Given the description of an element on the screen output the (x, y) to click on. 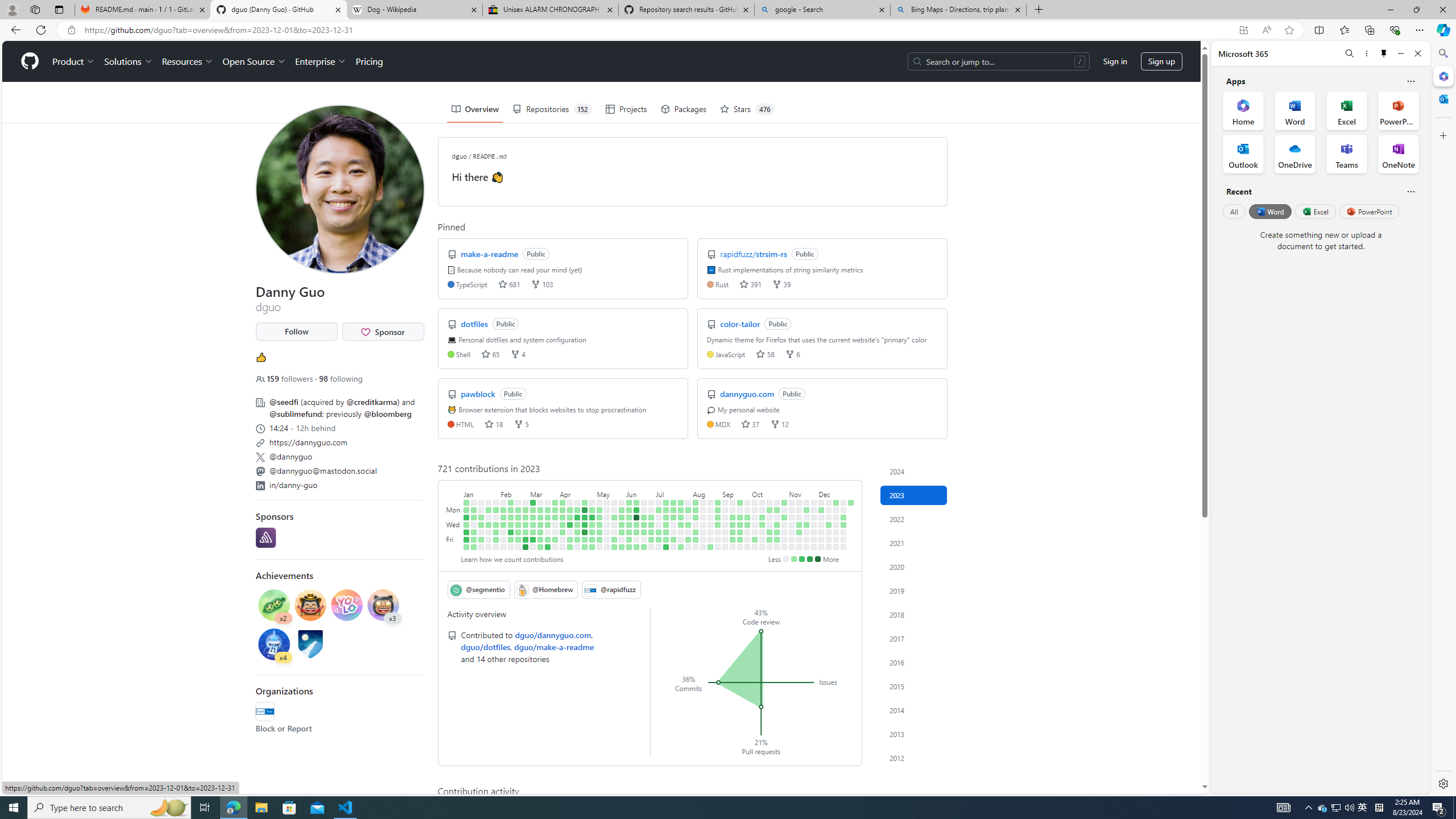
No contributions on October 15th. (770, 502)
1 contribution on December 4th. (821, 509)
No contributions on January 31st. (496, 517)
4 contributions on September 13th. (732, 524)
No contributions on September 6th. (725, 524)
1 contribution on January 20th. (481, 539)
98 following (340, 378)
4 contributions on December 27th. (843, 524)
No contributions on November 19th. (806, 502)
stars 65 (489, 353)
1 contribution on October 25th. (777, 524)
6 contributions on July 11th. (665, 517)
